Given the description of an element on the screen output the (x, y) to click on. 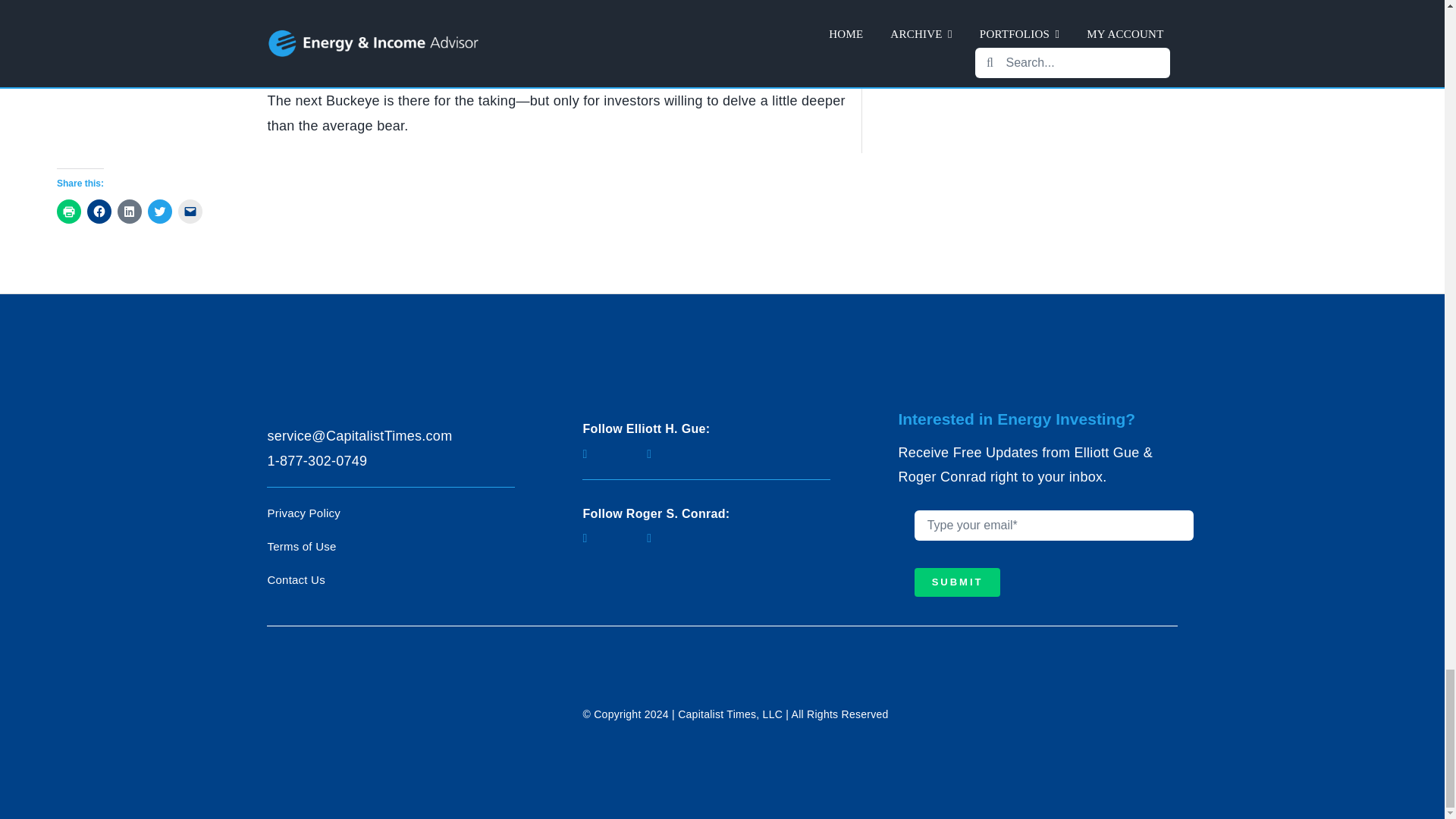
Click to share on Facebook (99, 211)
ct-logo-white-new (380, 708)
Click to share on Twitter (159, 211)
Click to share on LinkedIn (129, 211)
Click to print (68, 211)
Click to email a link to a friend (189, 211)
